Given the description of an element on the screen output the (x, y) to click on. 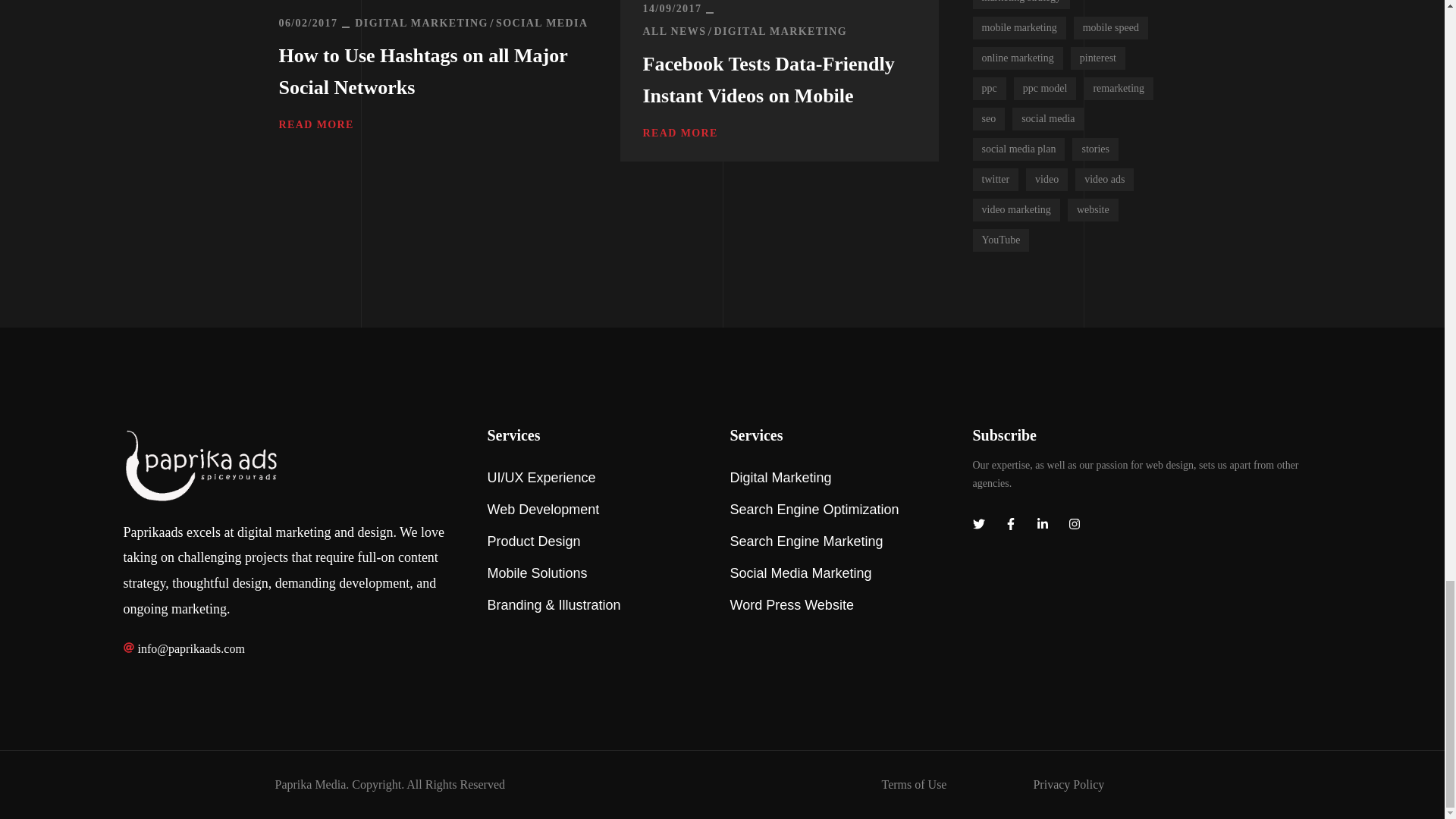
LinkeIn (1041, 523)
Twitter (978, 523)
Instagram (1073, 523)
Facebook (1009, 523)
